Given the description of an element on the screen output the (x, y) to click on. 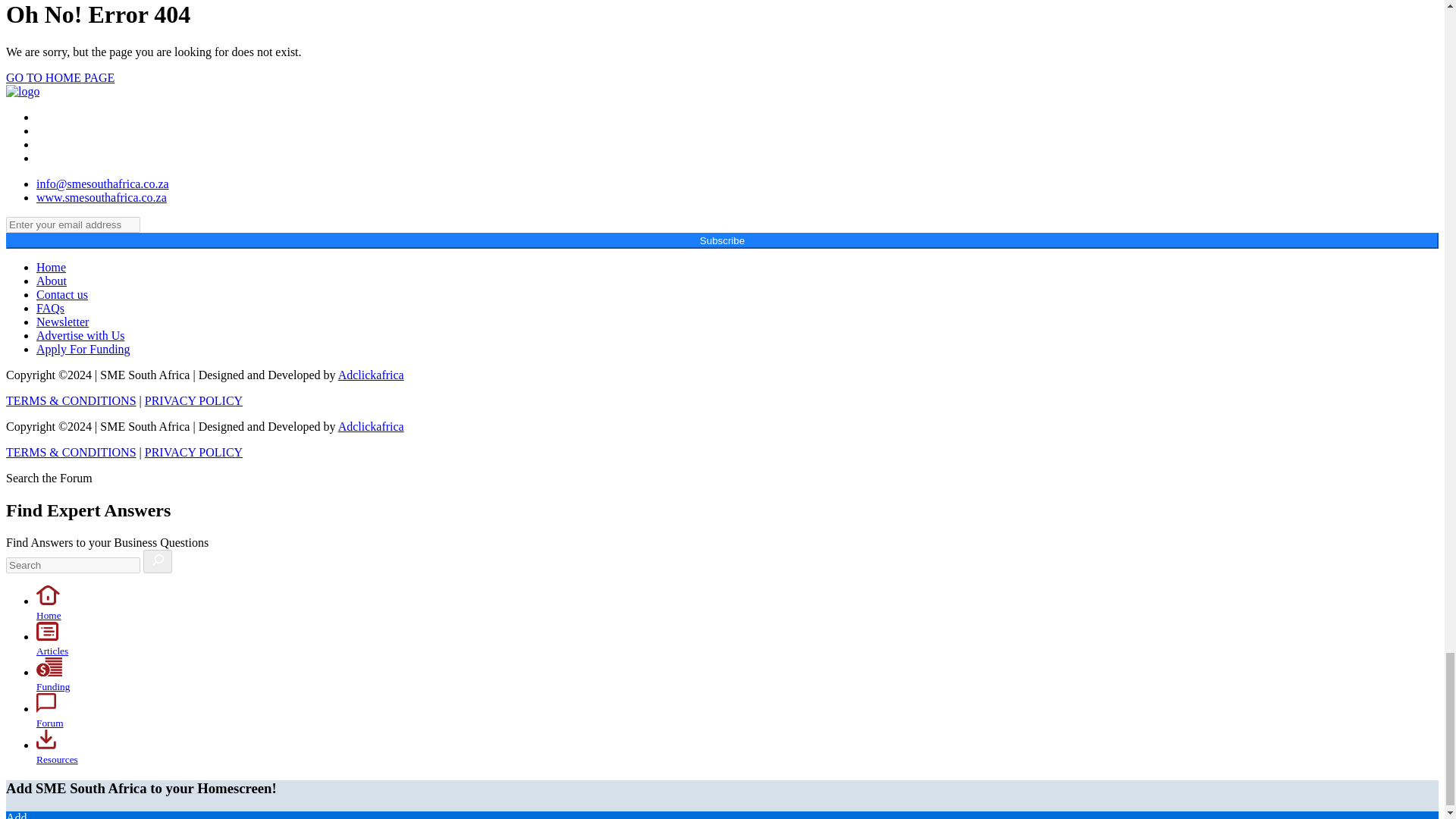
GO TO HOME PAGE (60, 77)
www.smesouthafrica.co.za (101, 196)
About (51, 280)
FAQs (50, 308)
Contact us (61, 294)
Newsletter (62, 321)
Apply For Funding (83, 349)
PRIVACY POLICY (193, 400)
Advertise with Us (79, 335)
Adclickafrica (370, 374)
